Given the description of an element on the screen output the (x, y) to click on. 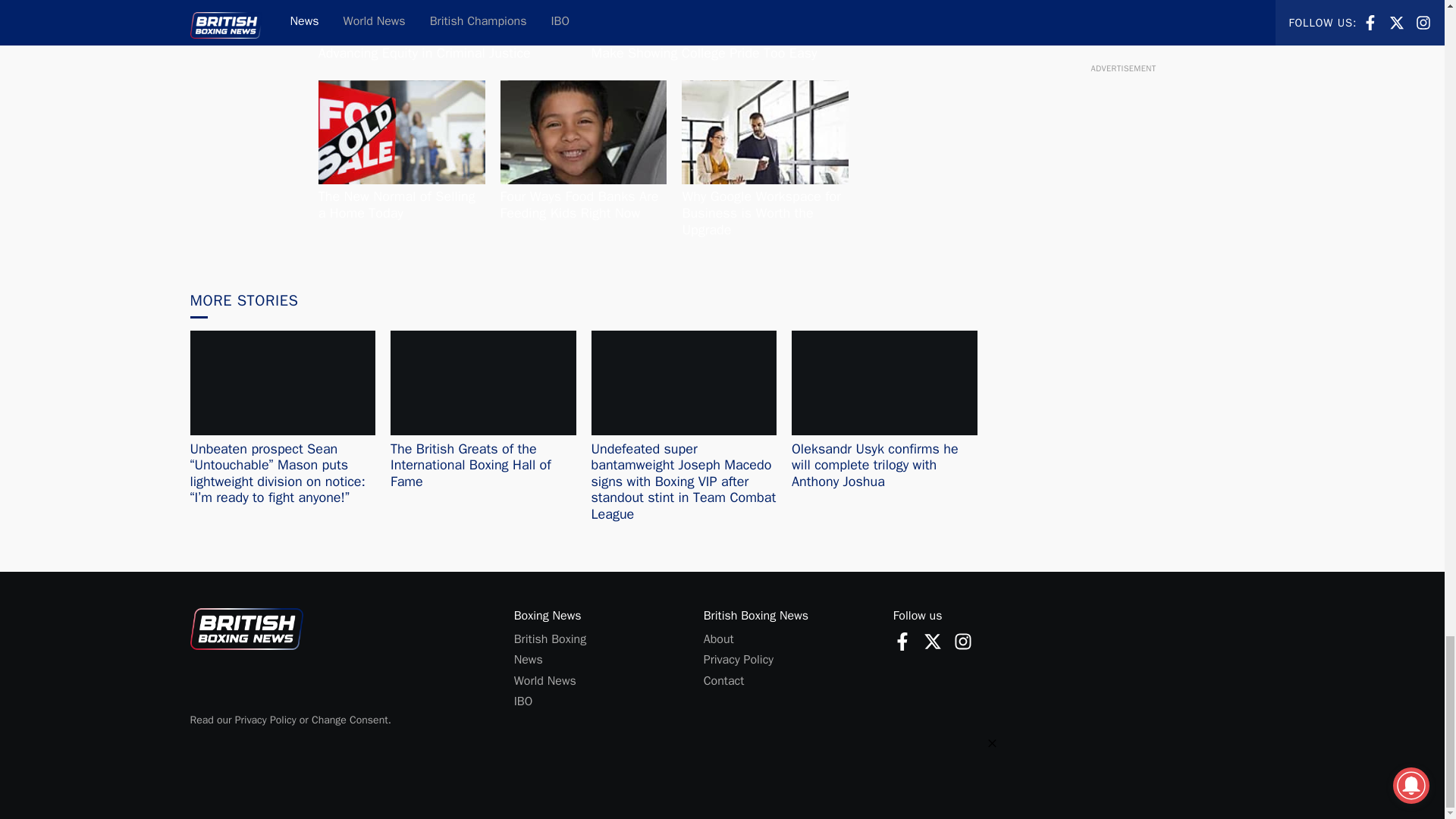
X (932, 641)
Instagram (962, 641)
Facebook (902, 641)
